Given the description of an element on the screen output the (x, y) to click on. 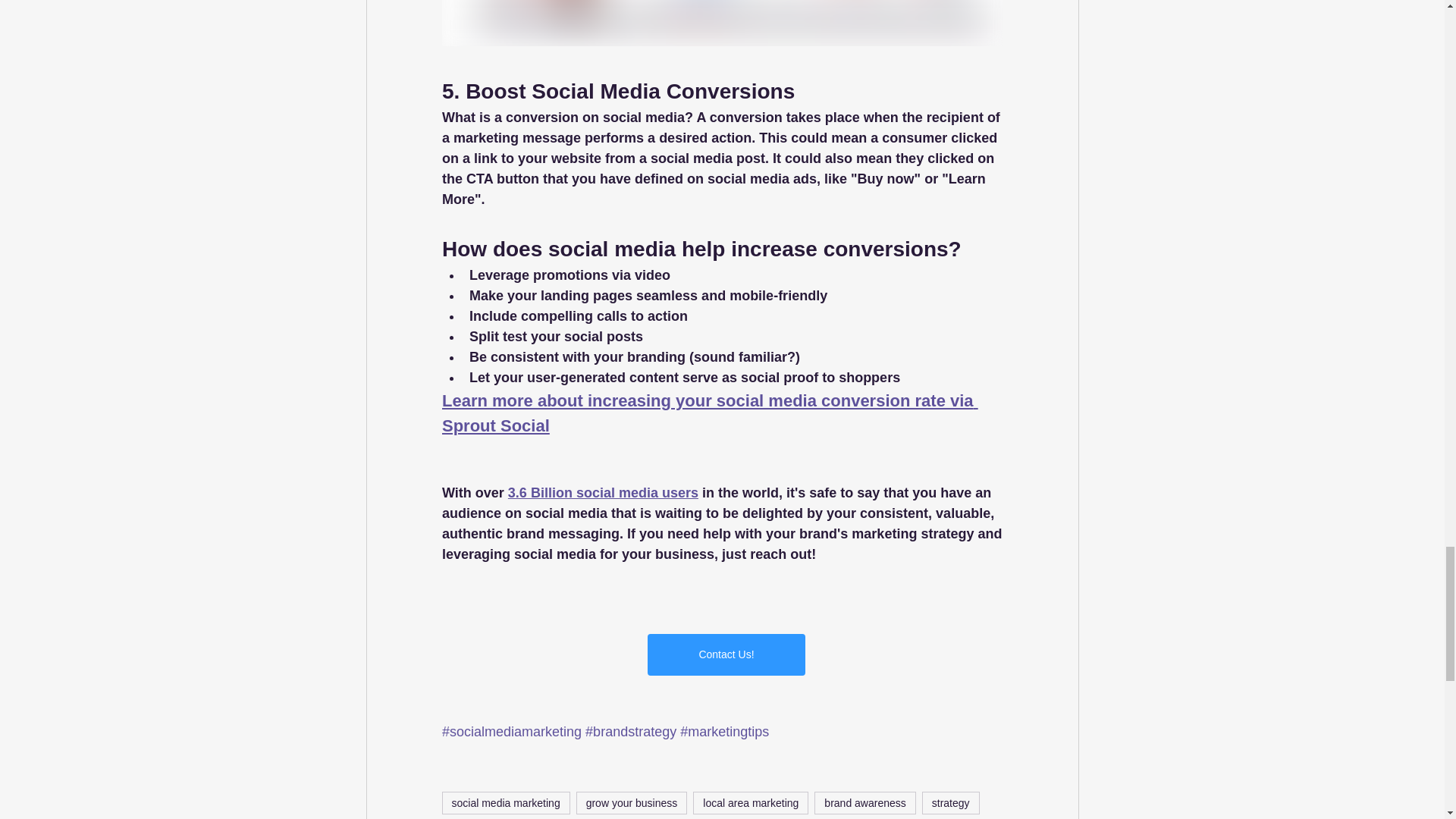
3.6 Billion social media users (601, 492)
brand awareness (864, 802)
social media marketing (505, 802)
local area marketing (750, 802)
grow your business (631, 802)
strategy (950, 802)
Contact Us! (726, 654)
